Given the description of an element on the screen output the (x, y) to click on. 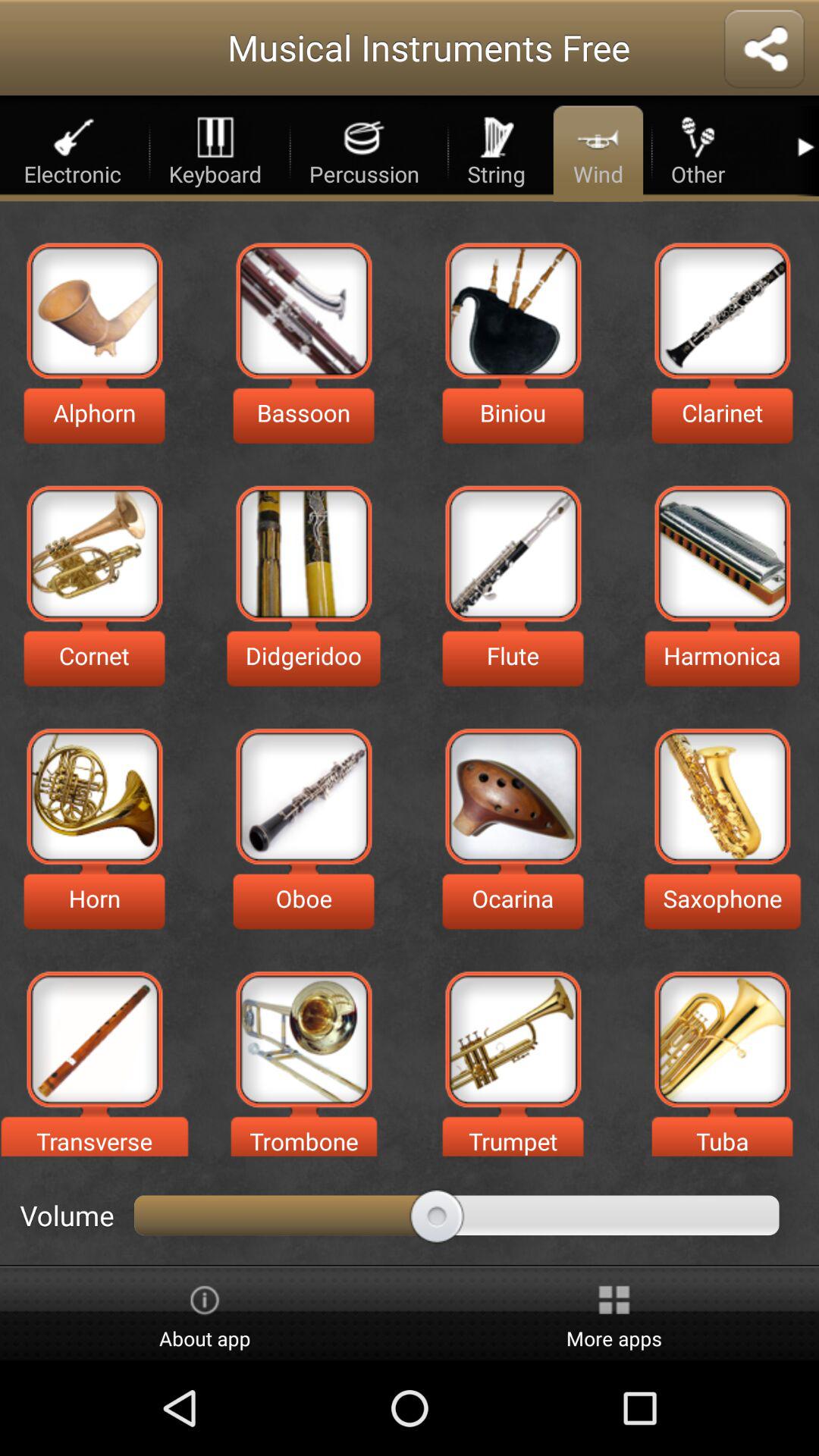
play bassoon (303, 310)
